Given the description of an element on the screen output the (x, y) to click on. 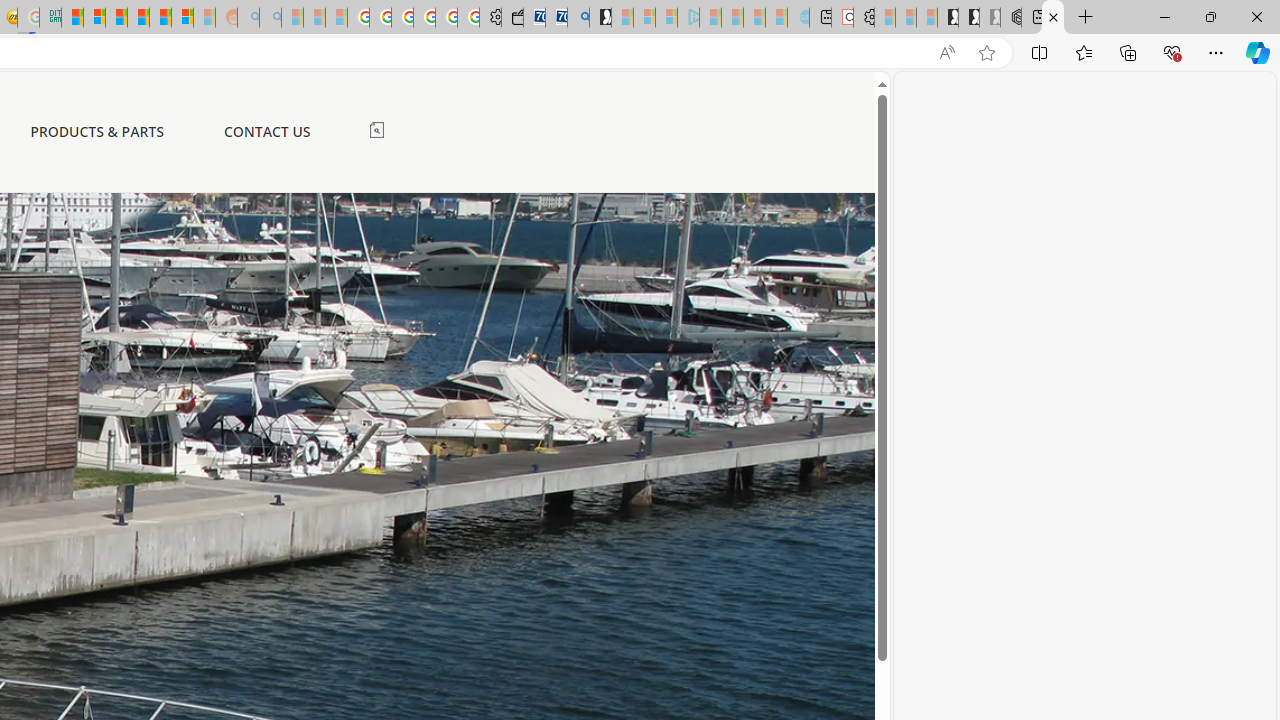
CONTACT US (266, 132)
Wallet (512, 17)
Kinda Frugal - MSN (160, 17)
PRODUCTS & PARTS (97, 132)
